Given the description of an element on the screen output the (x, y) to click on. 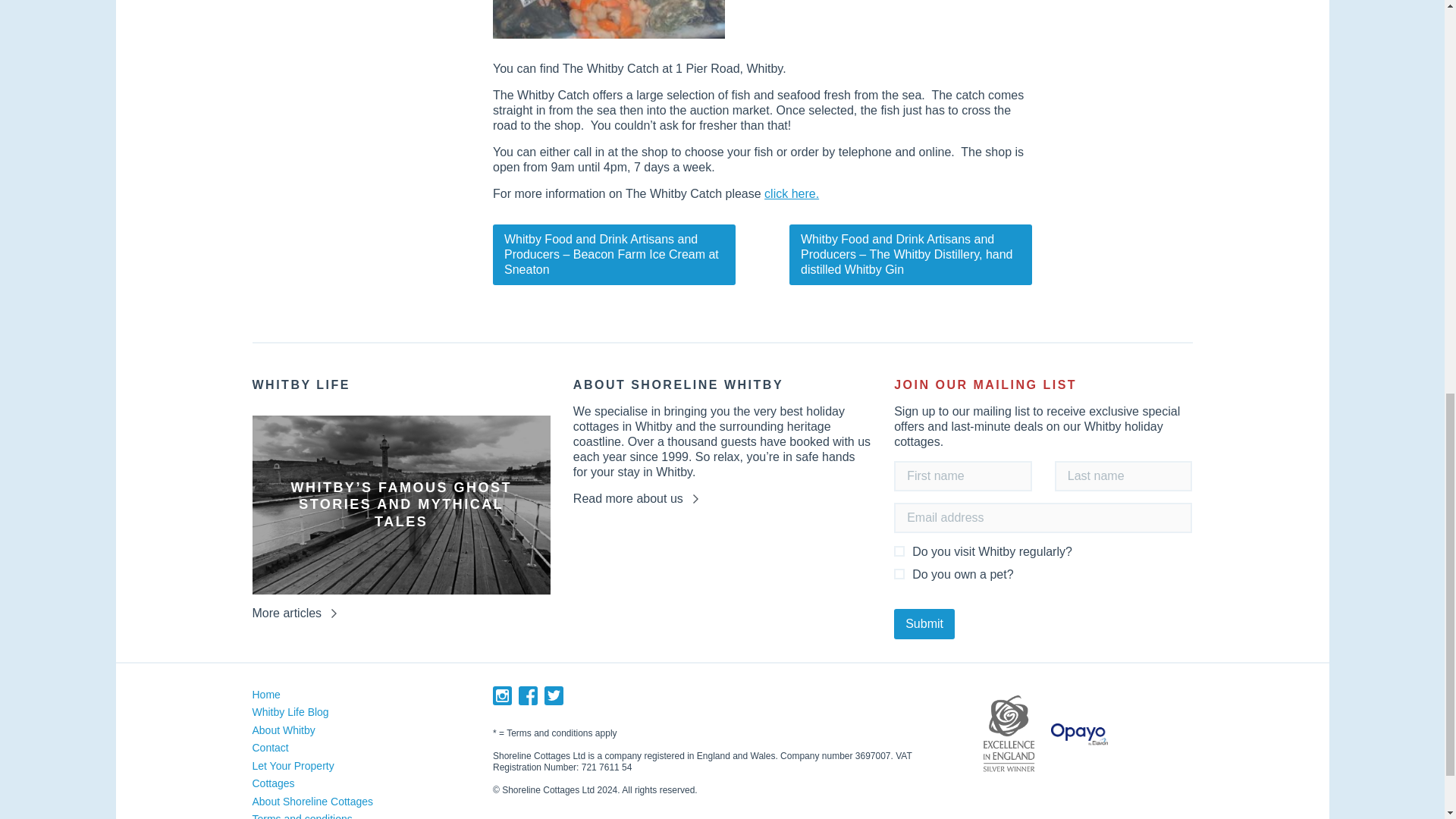
click here. (791, 193)
Submit (924, 624)
ABOUT SHORELINE WHITBY (721, 390)
WHITBY LIFE (400, 390)
More articles (293, 613)
Read more about us (635, 498)
